Given the description of an element on the screen output the (x, y) to click on. 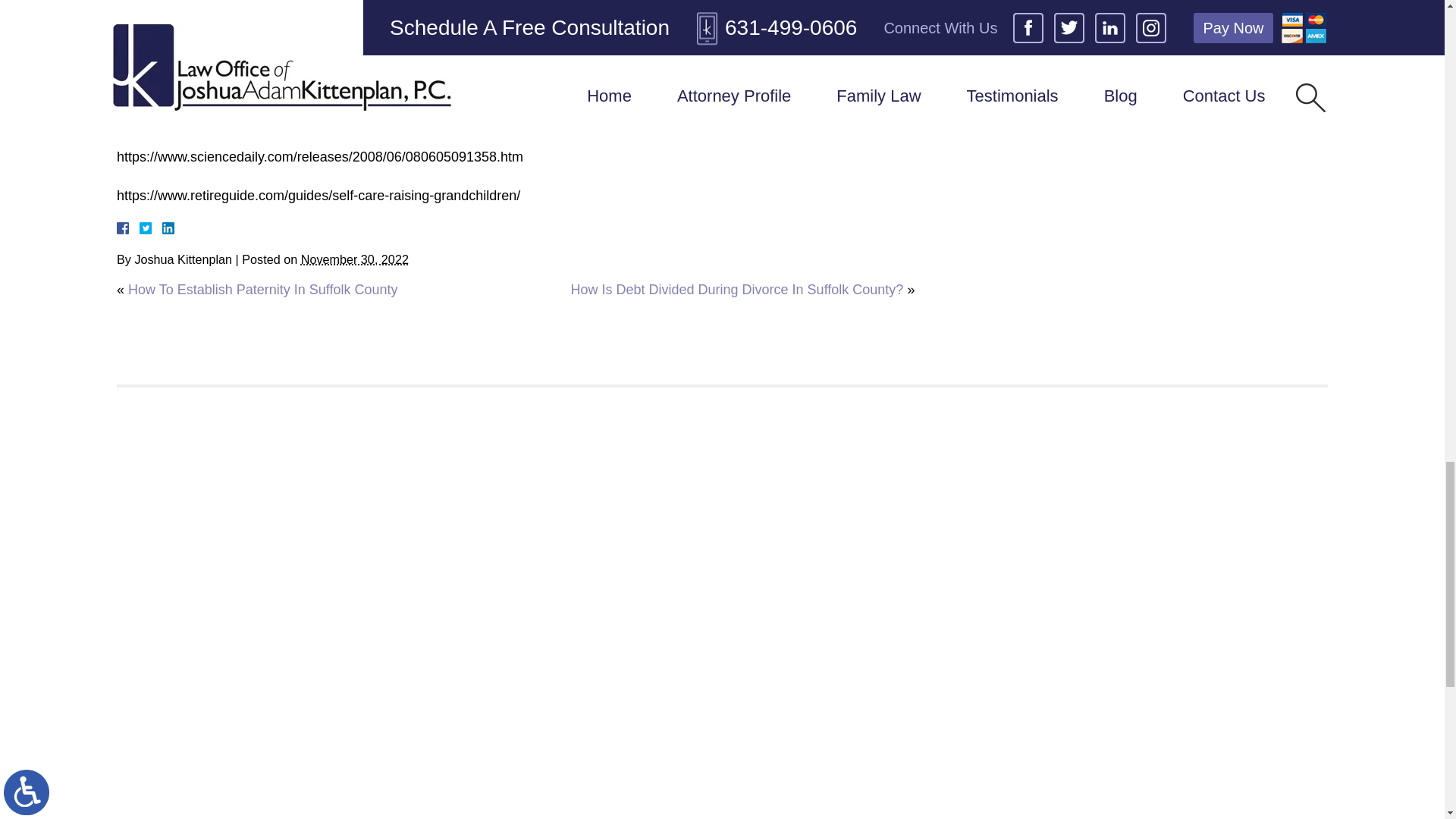
Facebook (140, 227)
2022-11-30T03:00:37-0800 (355, 259)
Twitter (152, 227)
LinkedIn (162, 227)
